Given the description of an element on the screen output the (x, y) to click on. 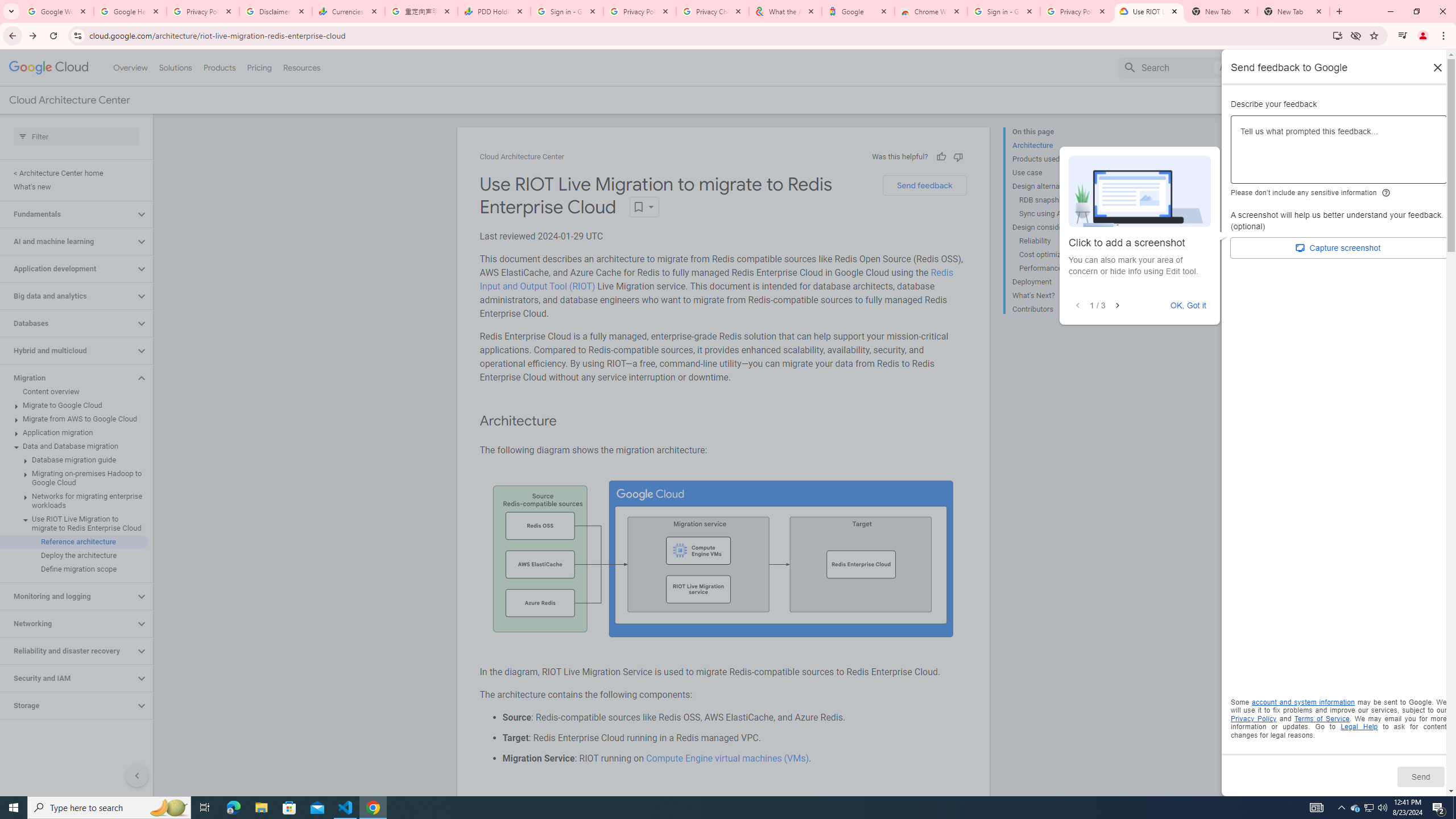
account and system information (1303, 702)
AI and machine learning (67, 241)
Design alternatives (1058, 186)
Content overview (74, 391)
Send feedback (924, 185)
Pricing (259, 67)
Redis Input and Output Tool (RIOT) (716, 278)
Migrating on-premises Hadoop to Google Cloud (74, 477)
Start free (1400, 100)
Hide side navigation (136, 775)
Helpful (940, 156)
Docs, selected (1264, 67)
